Given the description of an element on the screen output the (x, y) to click on. 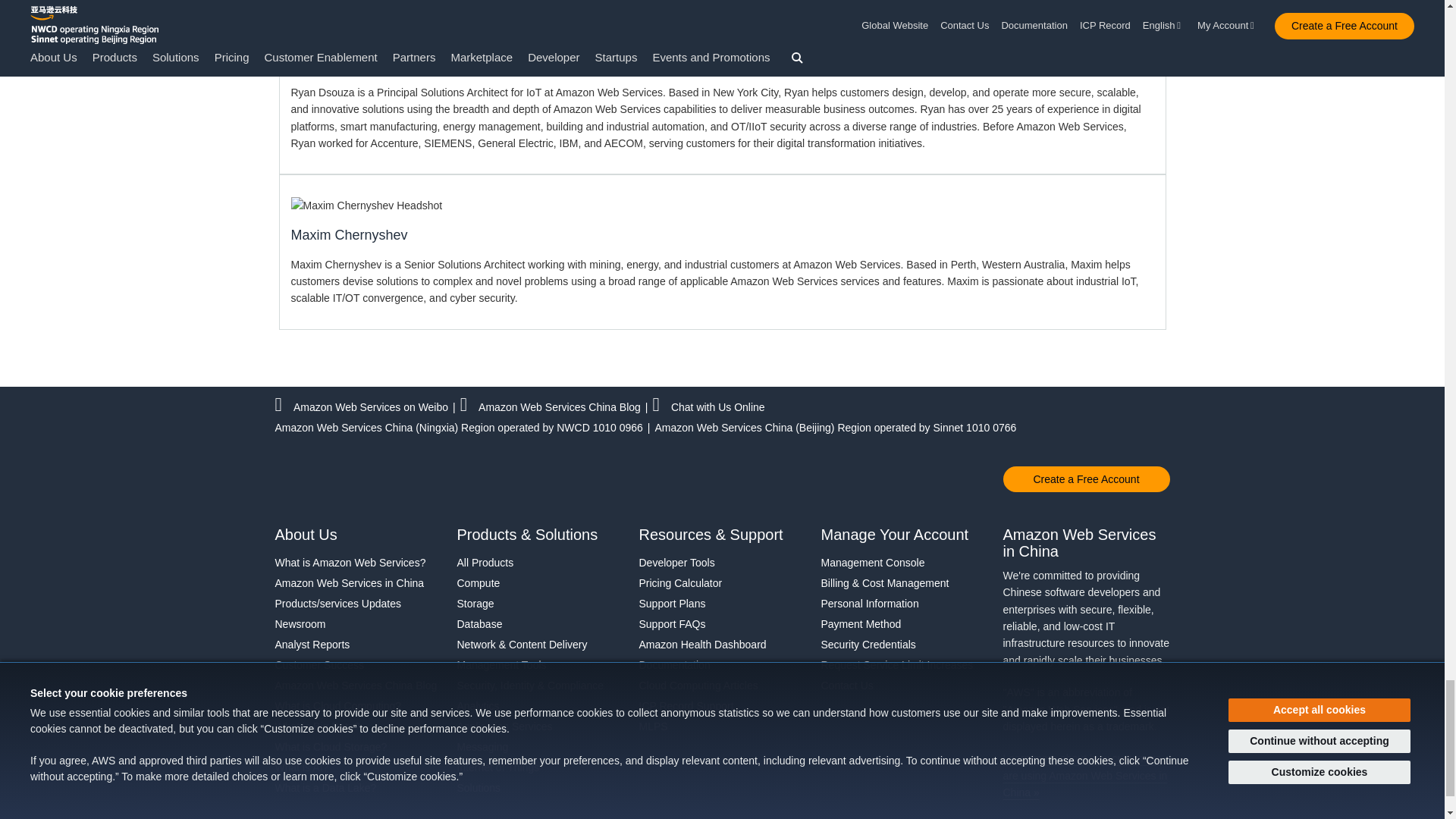
What is Big Data? (358, 726)
What is a Data Lake? (358, 787)
Analyst Reports (358, 644)
What is Cloud Computing? (358, 705)
What is Cloud Storage? (358, 746)
What is AI? (358, 767)
Newsroom (358, 623)
Amazon Web Services in China (358, 582)
What's New (358, 603)
What is Amazon Web Services? (358, 562)
Amazon Web Services China Blog (358, 685)
Customer Success (358, 664)
